Given the description of an element on the screen output the (x, y) to click on. 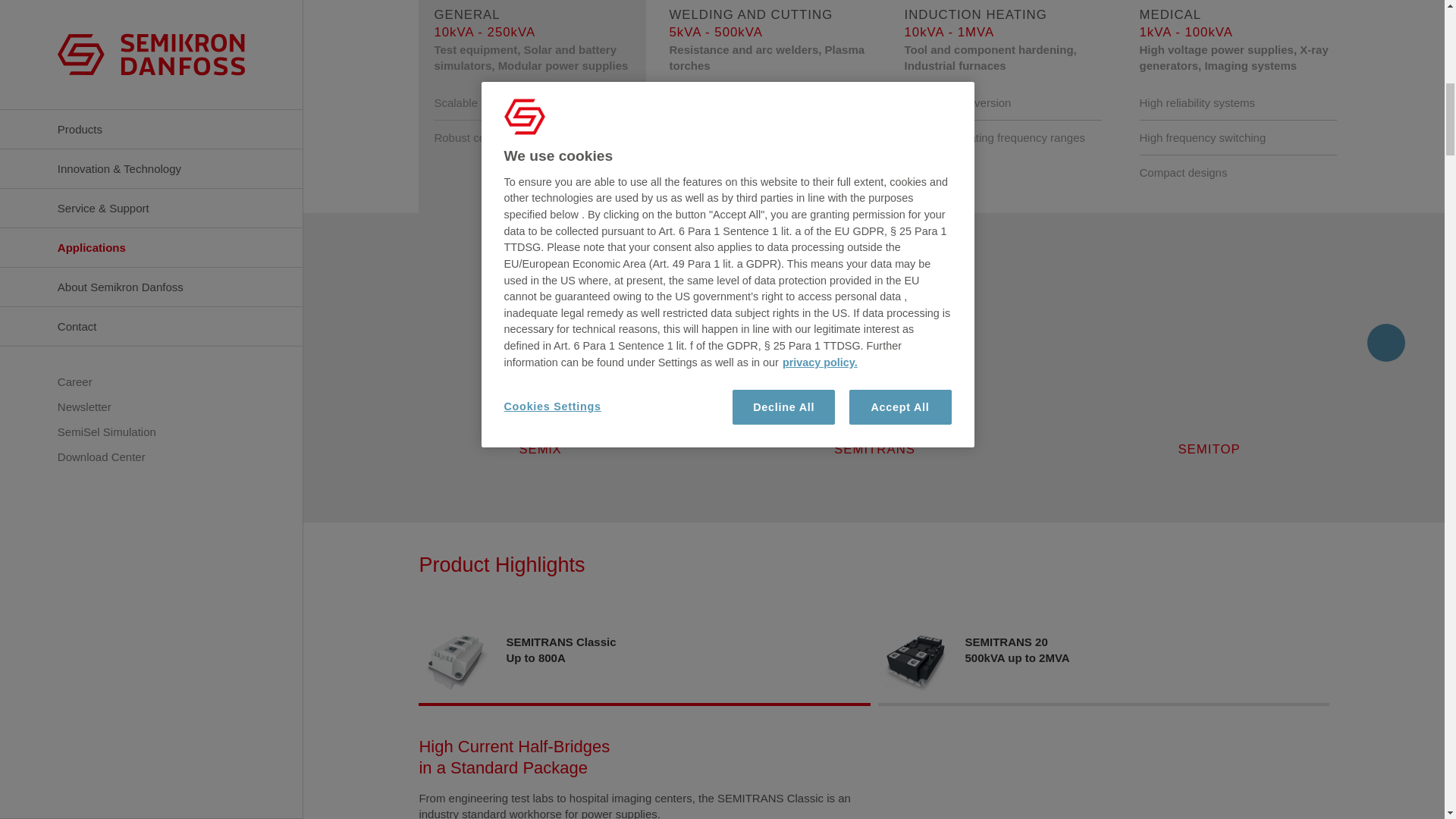
SEMiX (540, 367)
SEMITOP (1208, 367)
SEMITRANS (874, 367)
